Given the description of an element on the screen output the (x, y) to click on. 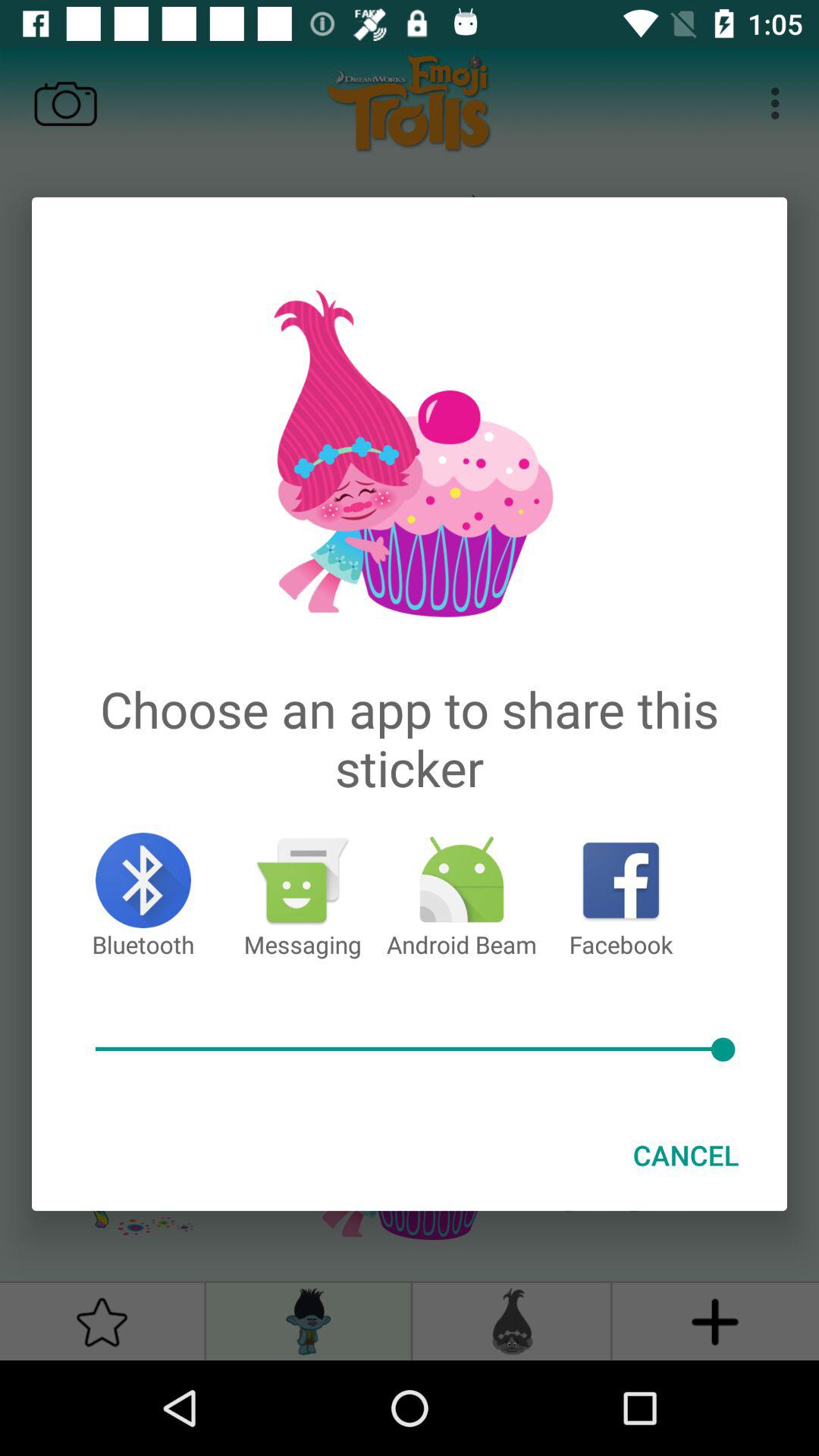
choose cancel at the bottom right corner (686, 1154)
